Given the description of an element on the screen output the (x, y) to click on. 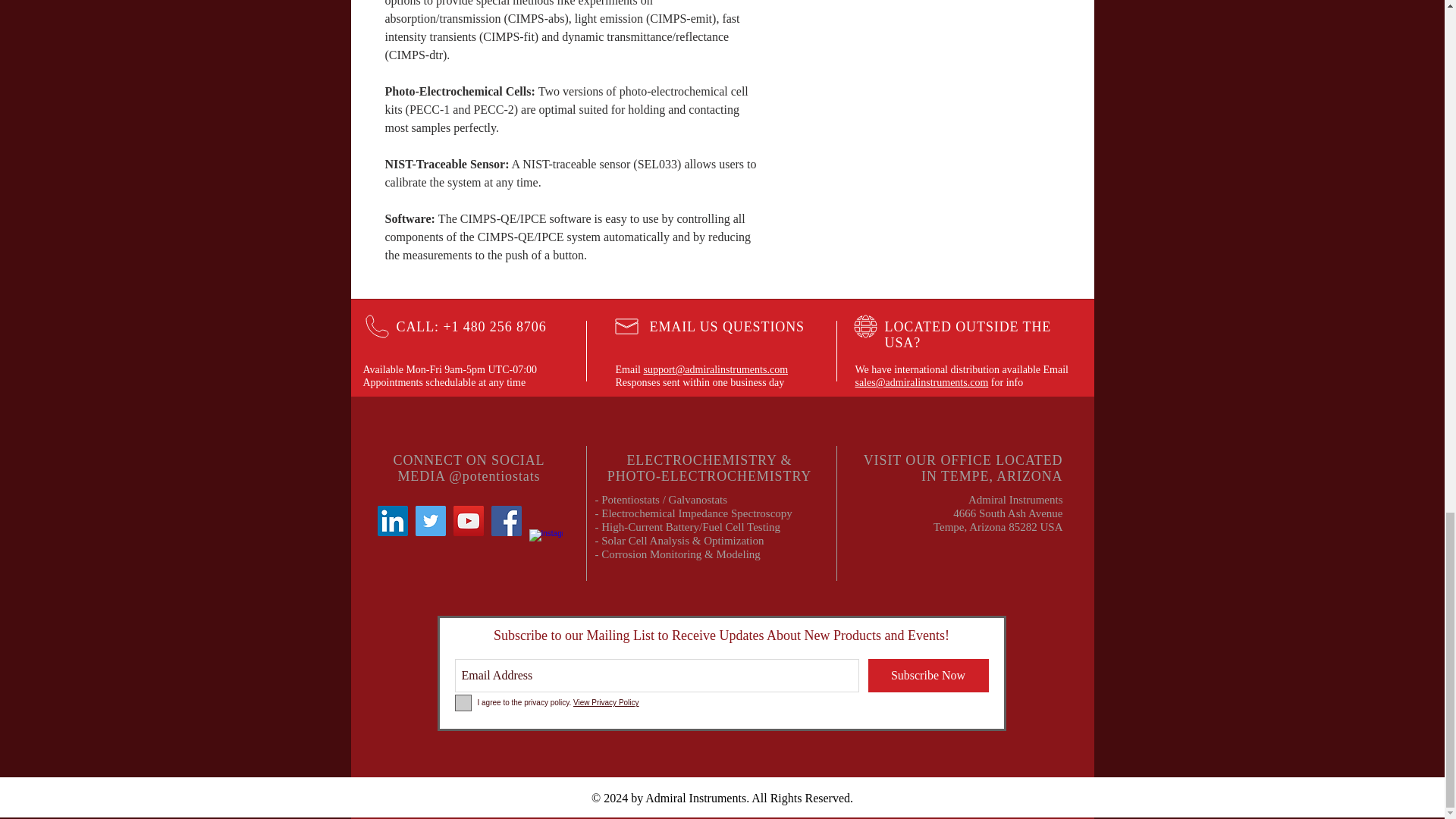
Subscribe Now (927, 675)
View Privacy Policy (606, 702)
